Given the description of an element on the screen output the (x, y) to click on. 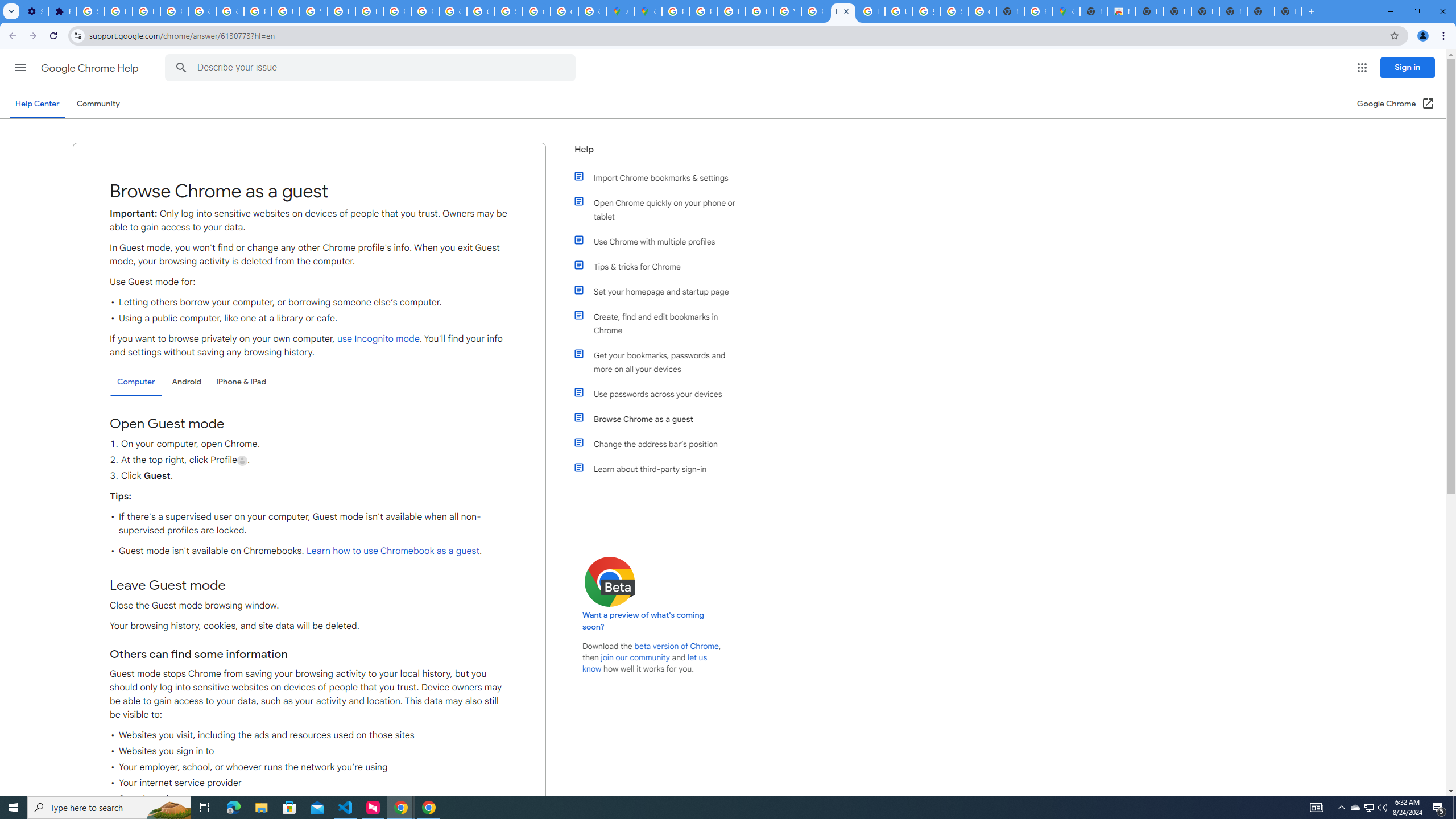
iPhone & iPad (240, 381)
beta version of Chrome (676, 646)
Sign in - Google Accounts (508, 11)
Browse Chrome as a guest (661, 419)
YouTube (313, 11)
Open Chrome quickly on your phone or tablet (661, 209)
Privacy Help Center - Policies Help (369, 11)
Create your Google Account (592, 11)
Use passwords across your devices (661, 394)
Delete photos & videos - Computer - Google Photos Help (118, 11)
Privacy Help Center - Policies Help (703, 11)
